Given the description of an element on the screen output the (x, y) to click on. 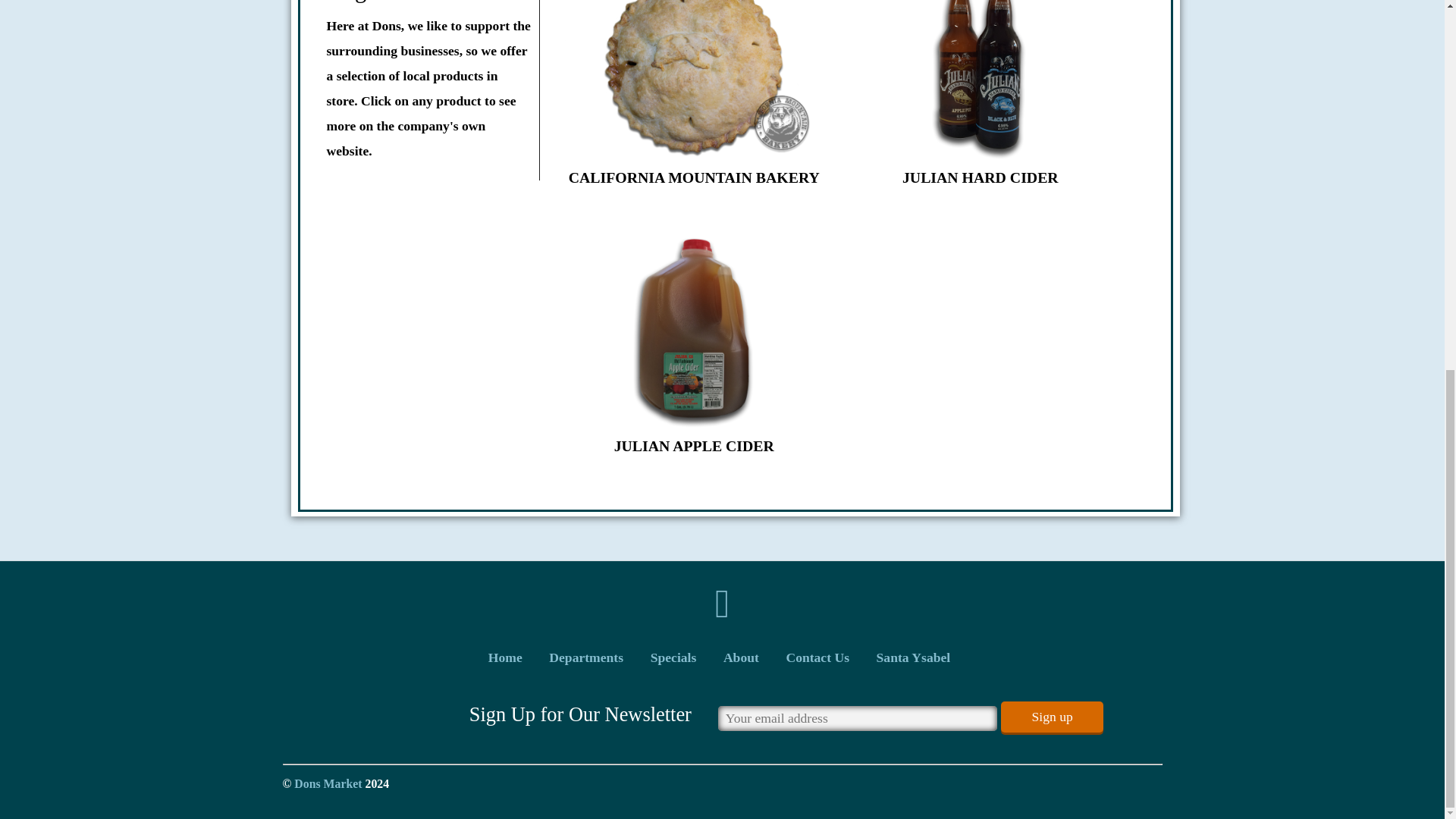
Sign up (1051, 716)
Santa Ysabel (913, 657)
Home (504, 657)
Dons Market (327, 783)
Departments (585, 657)
Contact Us (817, 657)
Specials (673, 657)
About (740, 657)
Sign up (1051, 716)
